Given the description of an element on the screen output the (x, y) to click on. 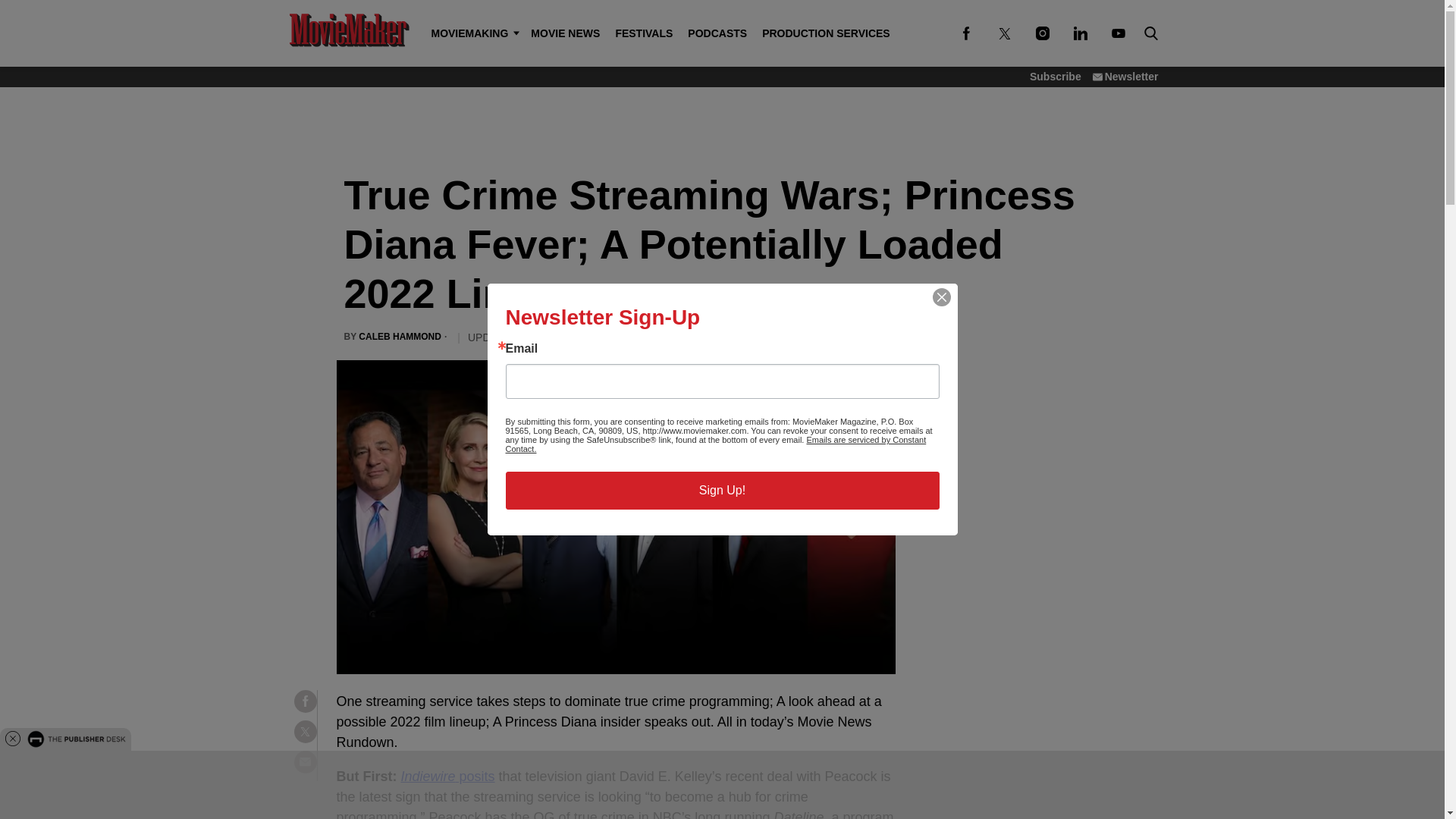
Posts by Caleb Hammond (399, 336)
MOVIE NEWS (564, 33)
FESTIVALS (643, 33)
3rd party ad content (721, 124)
PRODUCTION SERVICES (826, 33)
PODCASTS (716, 33)
Share via Email (305, 762)
Newsletter (1125, 76)
Subscribe (1055, 76)
CALEB HAMMOND (399, 336)
Share on Twitter (305, 731)
Indiewire posits (447, 776)
Share on Facebook (305, 701)
MOVIEMAKING (472, 33)
